Given the description of an element on the screen output the (x, y) to click on. 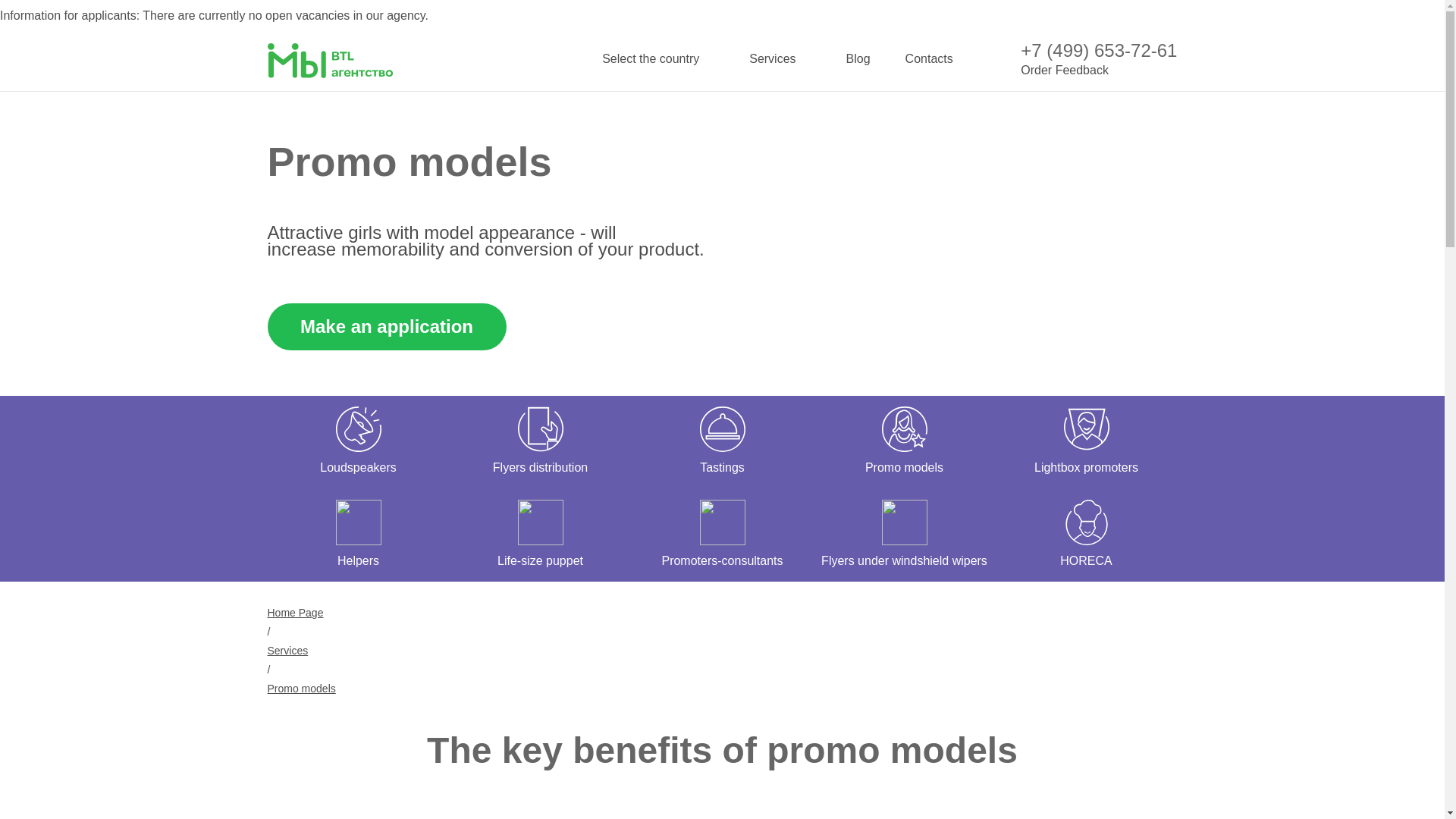
Promo models (300, 688)
Contacts (929, 59)
Select the country (658, 59)
Services (779, 59)
Order Feedback (1064, 69)
Home Page (294, 612)
